Given the description of an element on the screen output the (x, y) to click on. 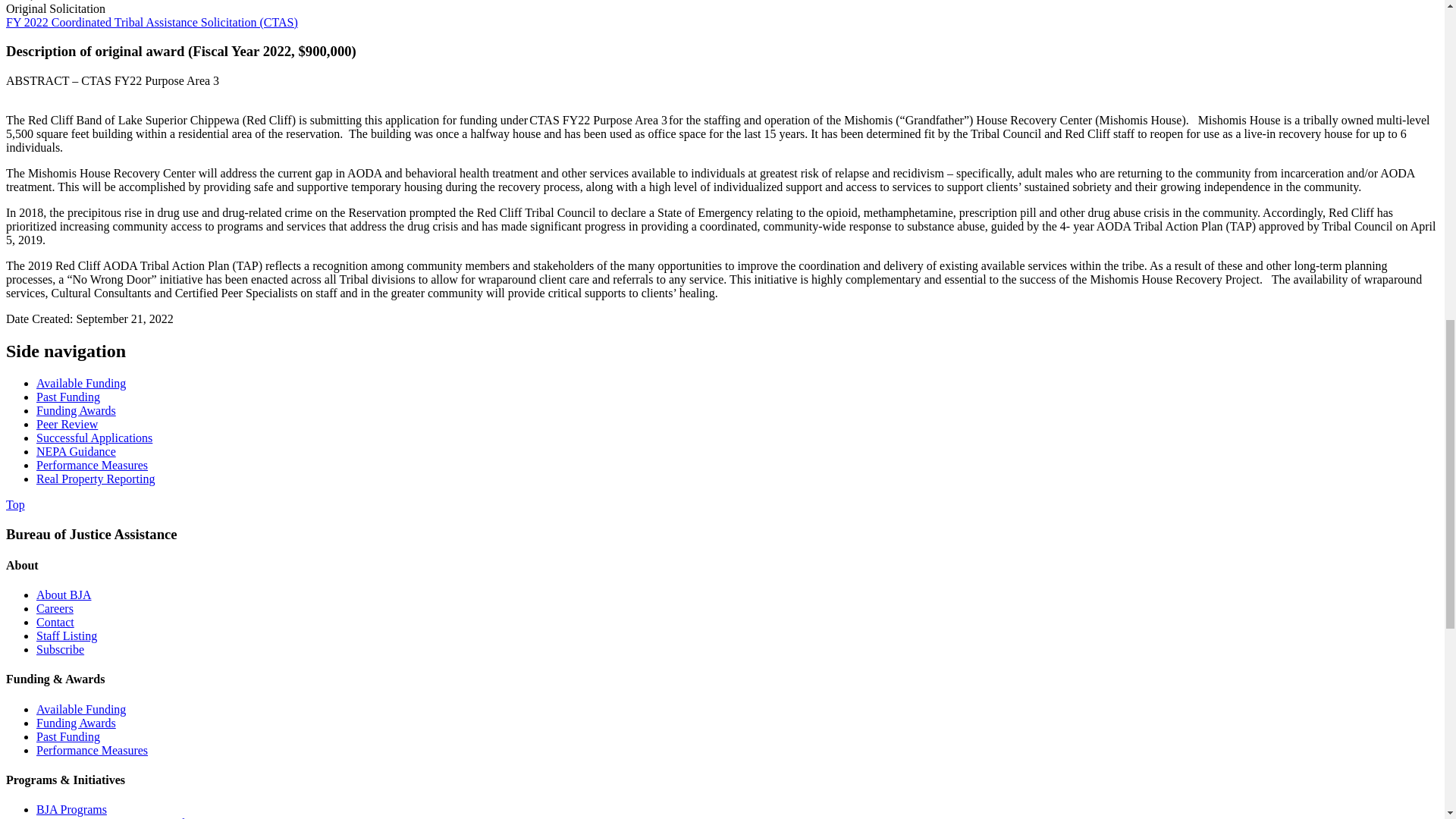
Real Property Reporting (95, 478)
Successful Applications (94, 437)
Top (14, 504)
Funding Awards (76, 410)
Performance Measures (92, 464)
Available Funding (80, 382)
Past Funding (68, 396)
NEPA Guidance (76, 451)
Peer Review (66, 423)
